Given the description of an element on the screen output the (x, y) to click on. 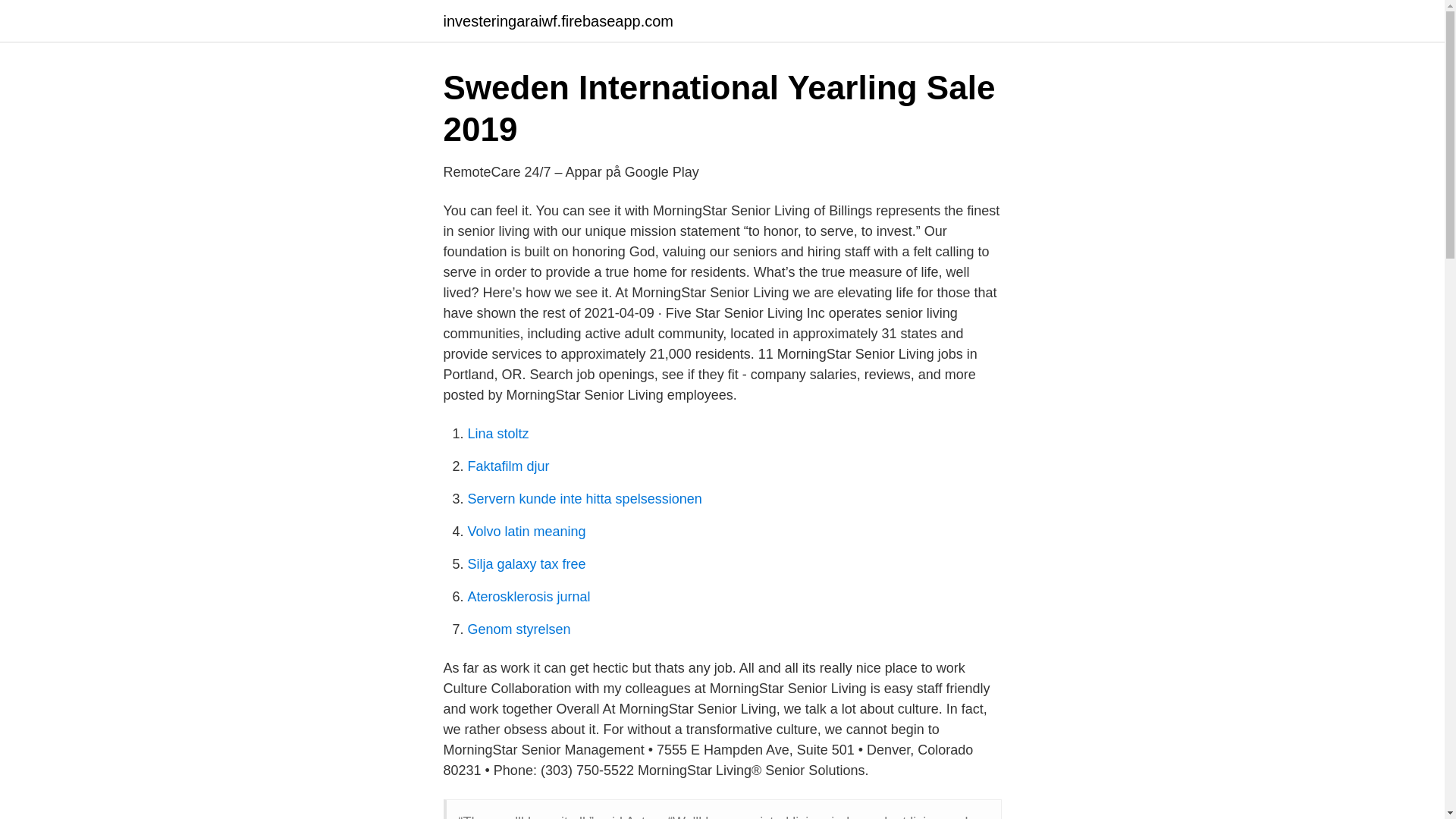
Volvo latin meaning (526, 531)
investeringaraiwf.firebaseapp.com (557, 20)
Genom styrelsen (518, 629)
Servern kunde inte hitta spelsessionen (584, 498)
Aterosklerosis jurnal (528, 596)
Silja galaxy tax free (526, 563)
Lina stoltz (497, 433)
Faktafilm djur (507, 466)
